Given the description of an element on the screen output the (x, y) to click on. 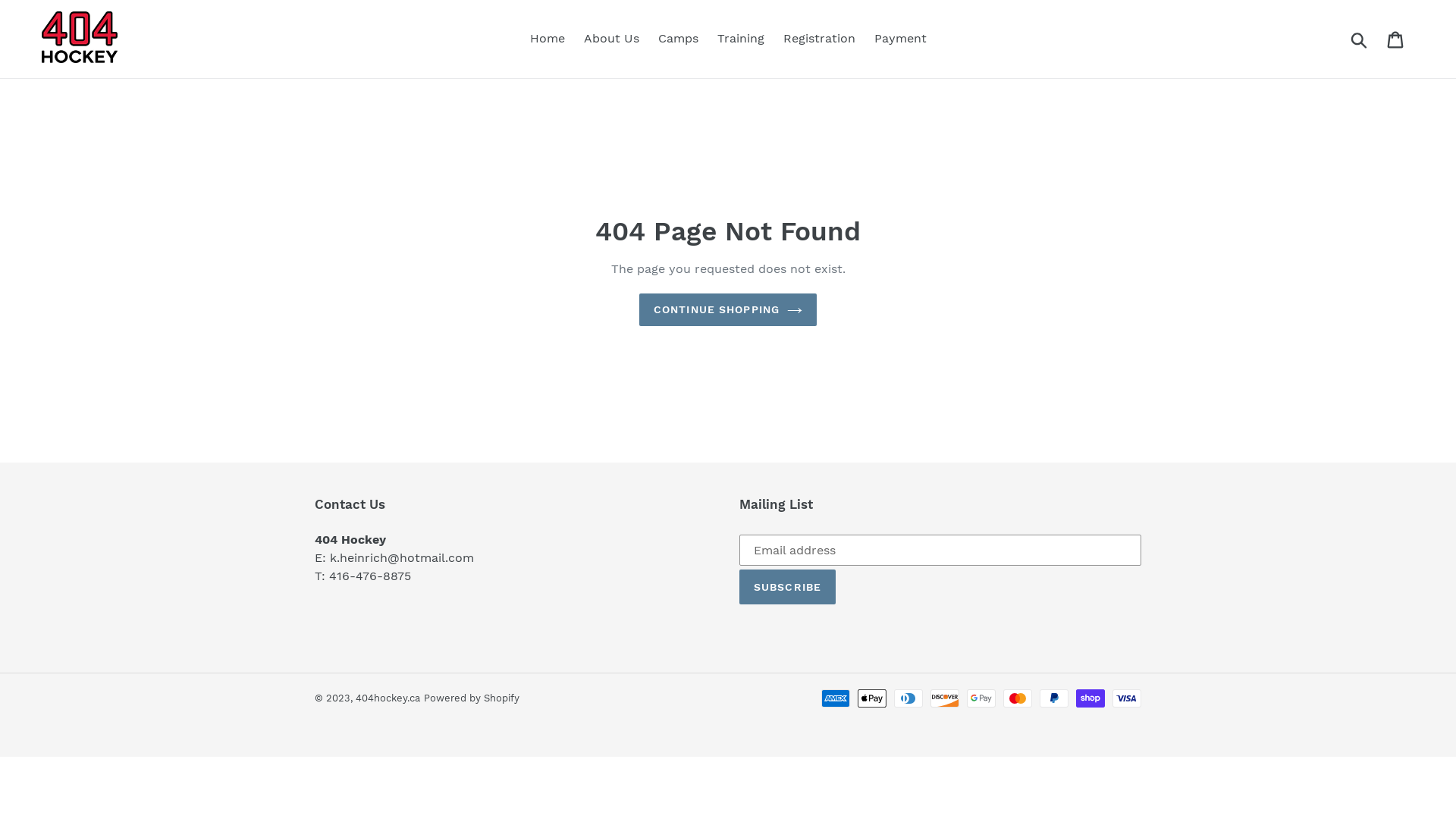
Payment Element type: text (899, 38)
Camps Element type: text (678, 38)
Cart Element type: text (1396, 38)
Registration Element type: text (818, 38)
Submit Element type: text (1359, 38)
404hockey.ca Element type: text (387, 697)
About Us Element type: text (611, 38)
SUBSCRIBE Element type: text (787, 586)
CONTINUE SHOPPING Element type: text (727, 309)
Training Element type: text (740, 38)
Powered by Shopify Element type: text (471, 697)
Home Element type: text (546, 38)
